Given the description of an element on the screen output the (x, y) to click on. 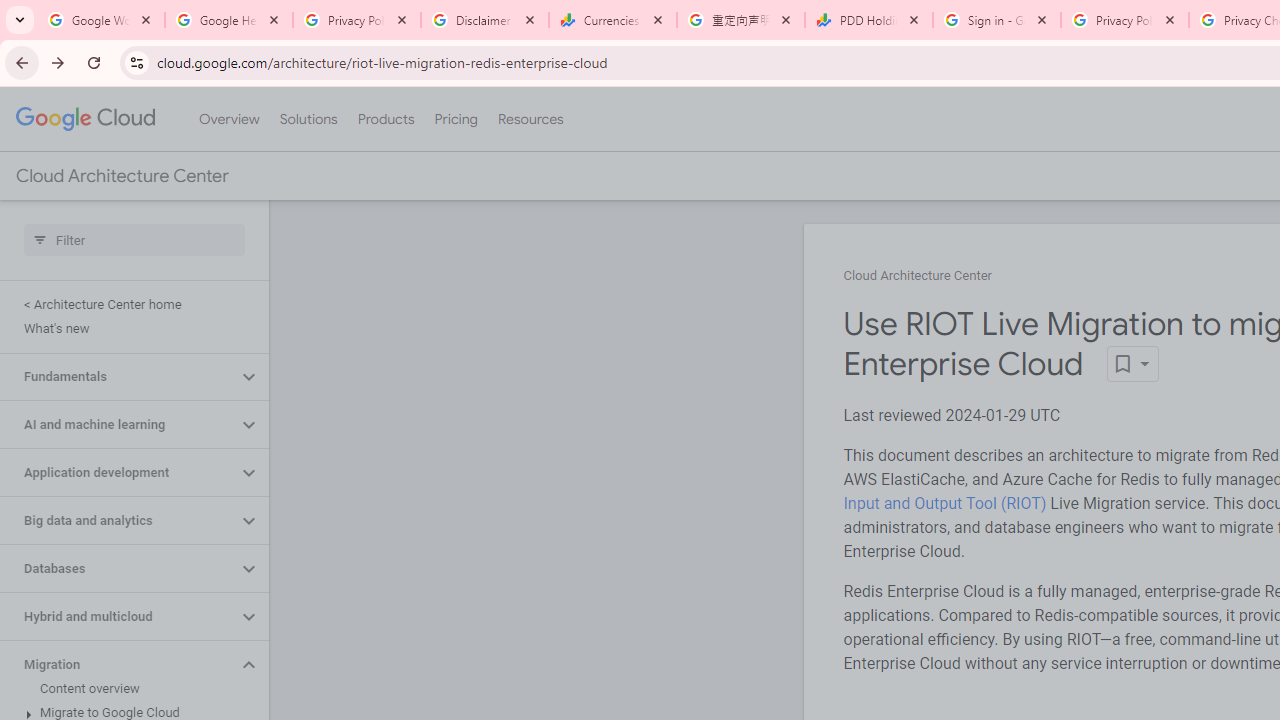
Sign in - Google Accounts (997, 20)
Big data and analytics (118, 520)
Databases (118, 569)
Open dropdown (1131, 364)
Currencies - Google Finance (613, 20)
< Architecture Center home (130, 304)
Hybrid and multicloud (118, 616)
Migration (118, 664)
What's new (130, 328)
Cloud Architecture Center (917, 276)
PDD Holdings Inc - ADR (PDD) Price & News - Google Finance (869, 20)
